Given the description of an element on the screen output the (x, y) to click on. 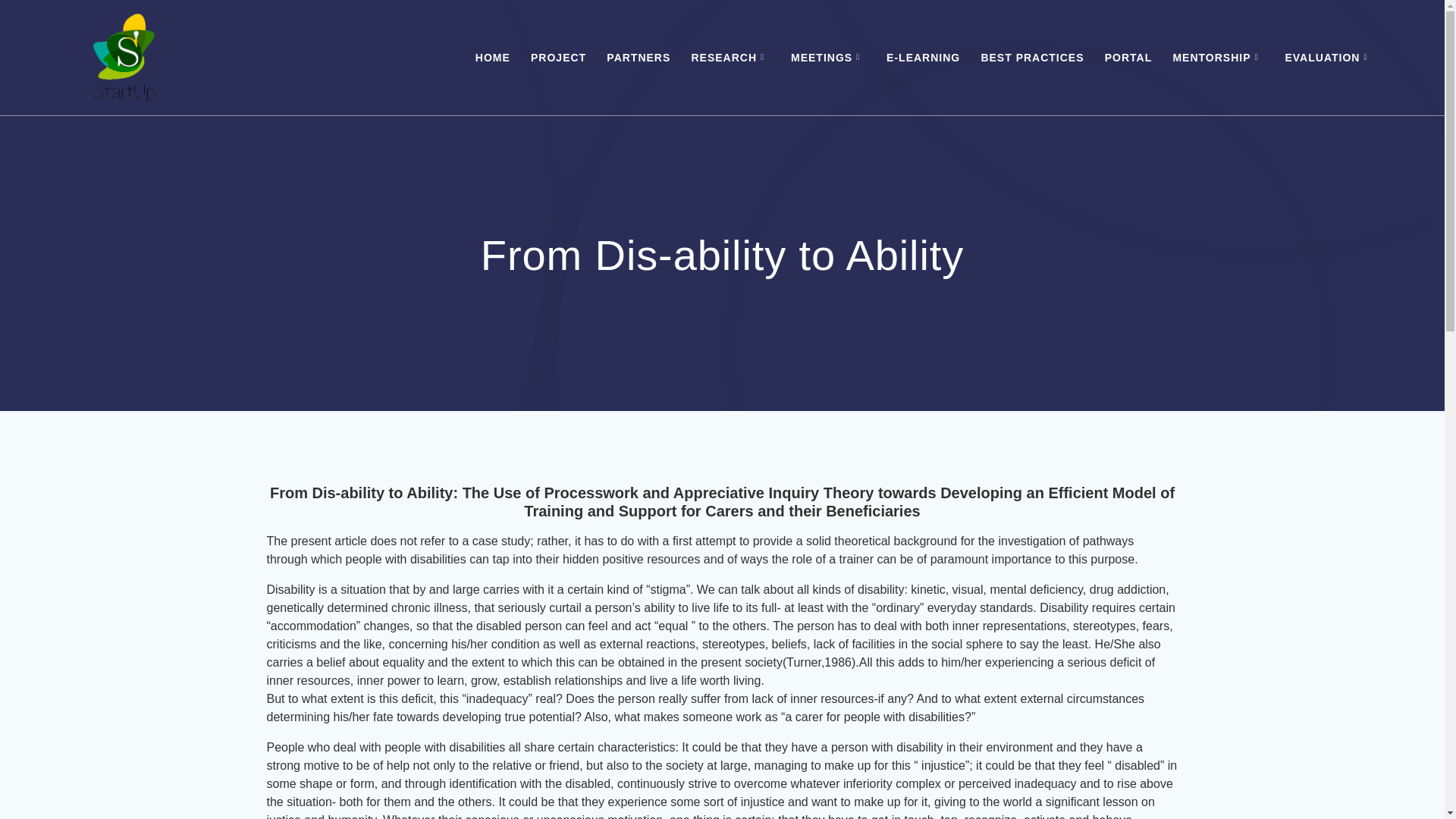
MENTORSHIP (1217, 57)
PORTAL (1129, 57)
PARTNERS (638, 57)
MEETINGS (828, 57)
E-LEARNING (922, 57)
HOME (493, 57)
BEST PRACTICES (1031, 57)
PROJECT (558, 57)
EVALUATION (1328, 57)
RESEARCH (730, 57)
